Given the description of an element on the screen output the (x, y) to click on. 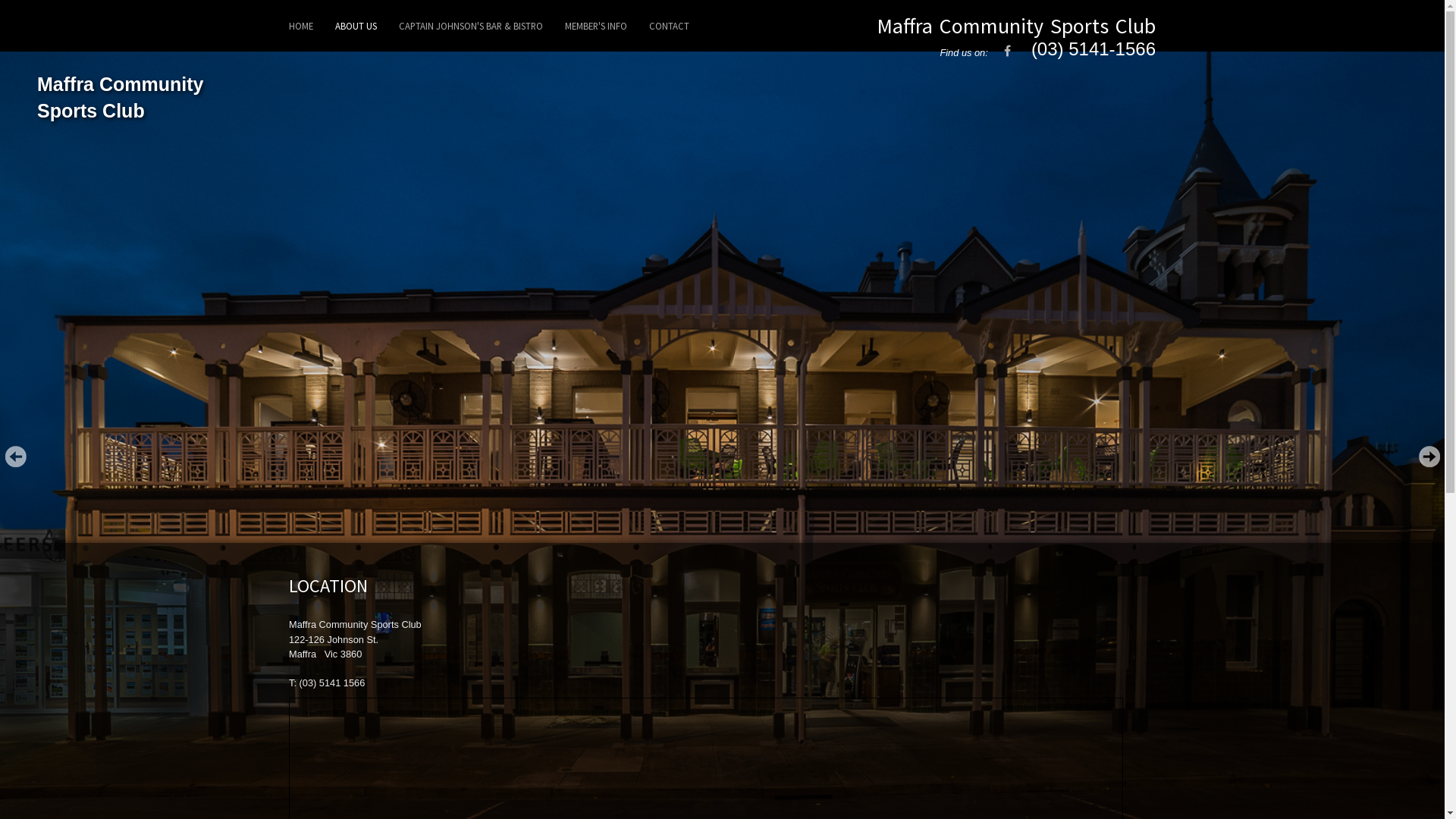
> Element type: text (1429, 456)
ABOUT US Element type: text (355, 25)
MEMBER'S INFO Element type: text (595, 25)
< Element type: text (14, 456)
Facebook Element type: hover (1006, 51)
Maffra Community Sports Club Element type: text (1015, 25)
CONTACT Element type: text (668, 25)
HOME Element type: text (300, 25)
CAPTAIN JOHNSON'S BAR & BISTRO Element type: text (470, 25)
